Given the description of an element on the screen output the (x, y) to click on. 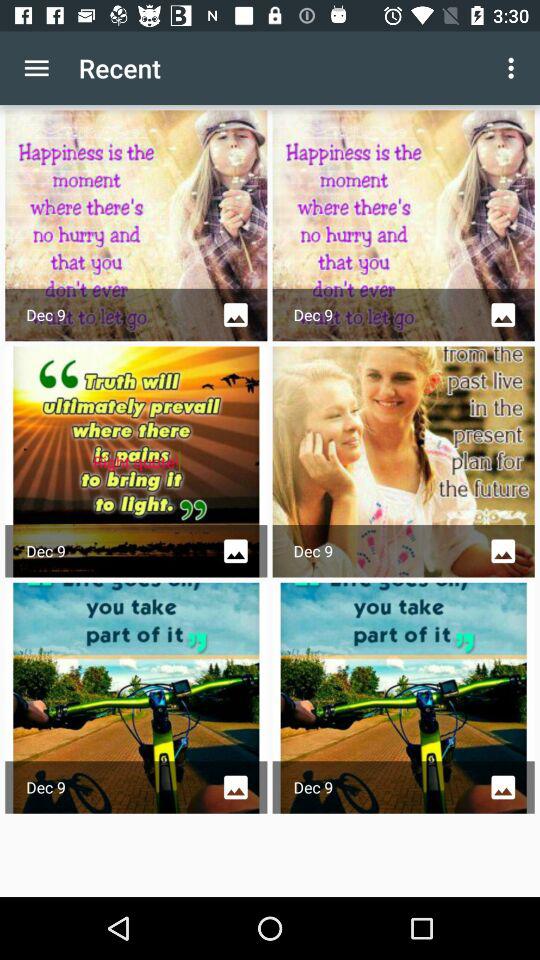
select the icon to the right of the recent item (513, 67)
